Given the description of an element on the screen output the (x, y) to click on. 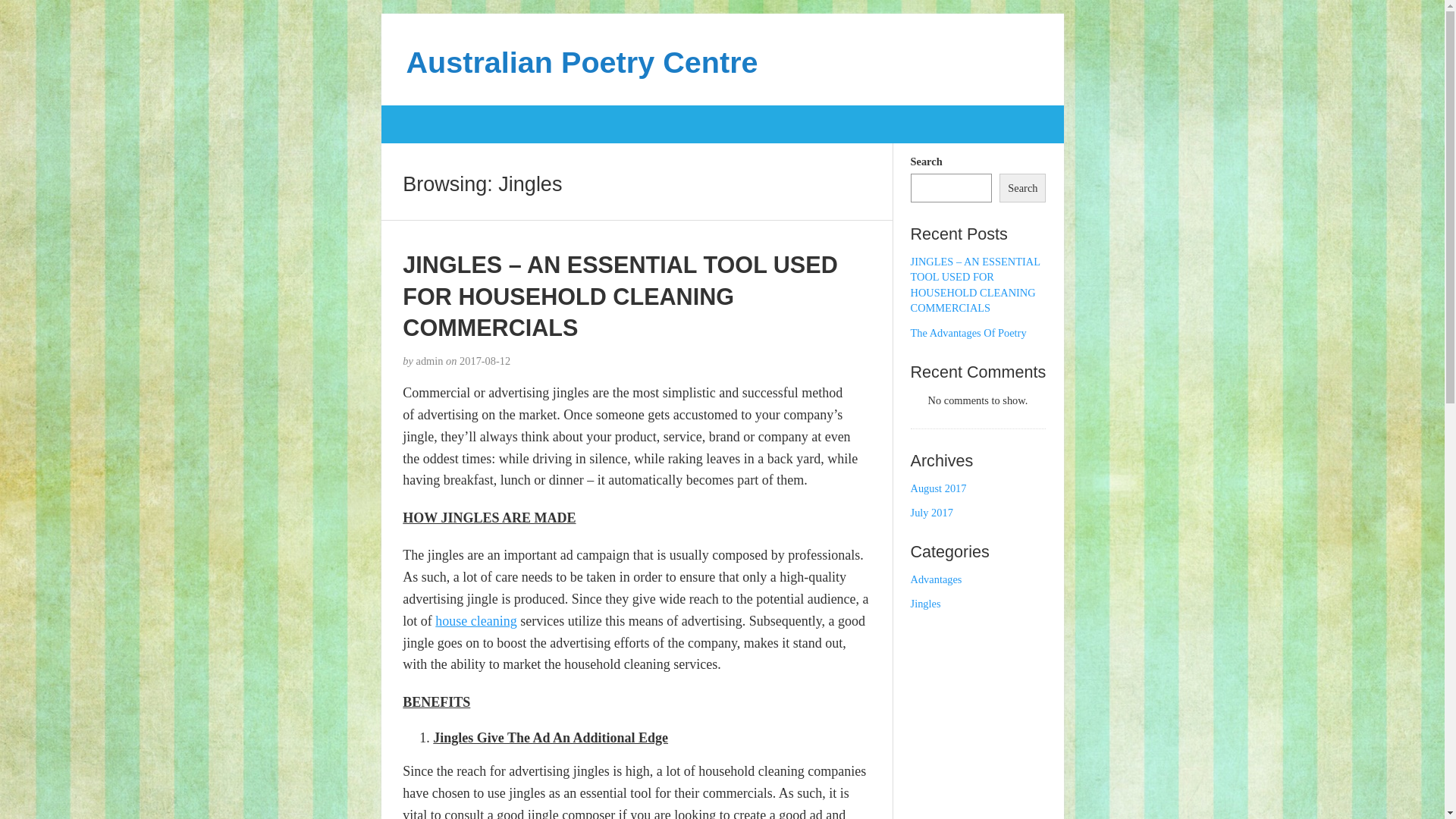
August 2017 Element type: text (938, 488)
house cleaning Element type: text (475, 620)
Jingles Element type: text (925, 603)
The Advantages Of Poetry Element type: text (968, 332)
Advantages Element type: text (936, 579)
Australian Poetry Centre Element type: text (582, 61)
July 2017 Element type: text (931, 512)
Search Element type: text (1022, 188)
